Given the description of an element on the screen output the (x, y) to click on. 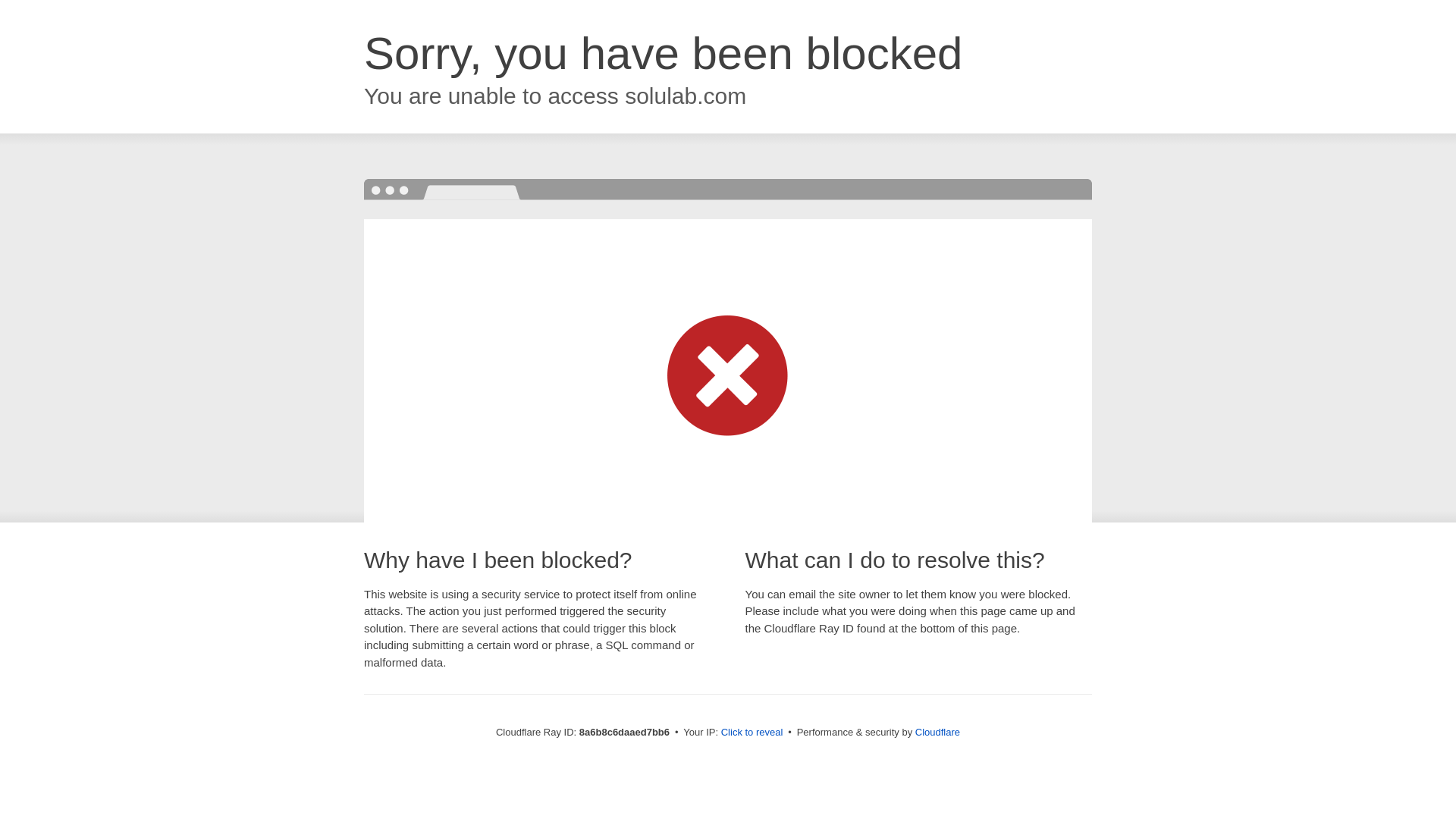
Click to reveal (751, 732)
Cloudflare (937, 731)
